Given the description of an element on the screen output the (x, y) to click on. 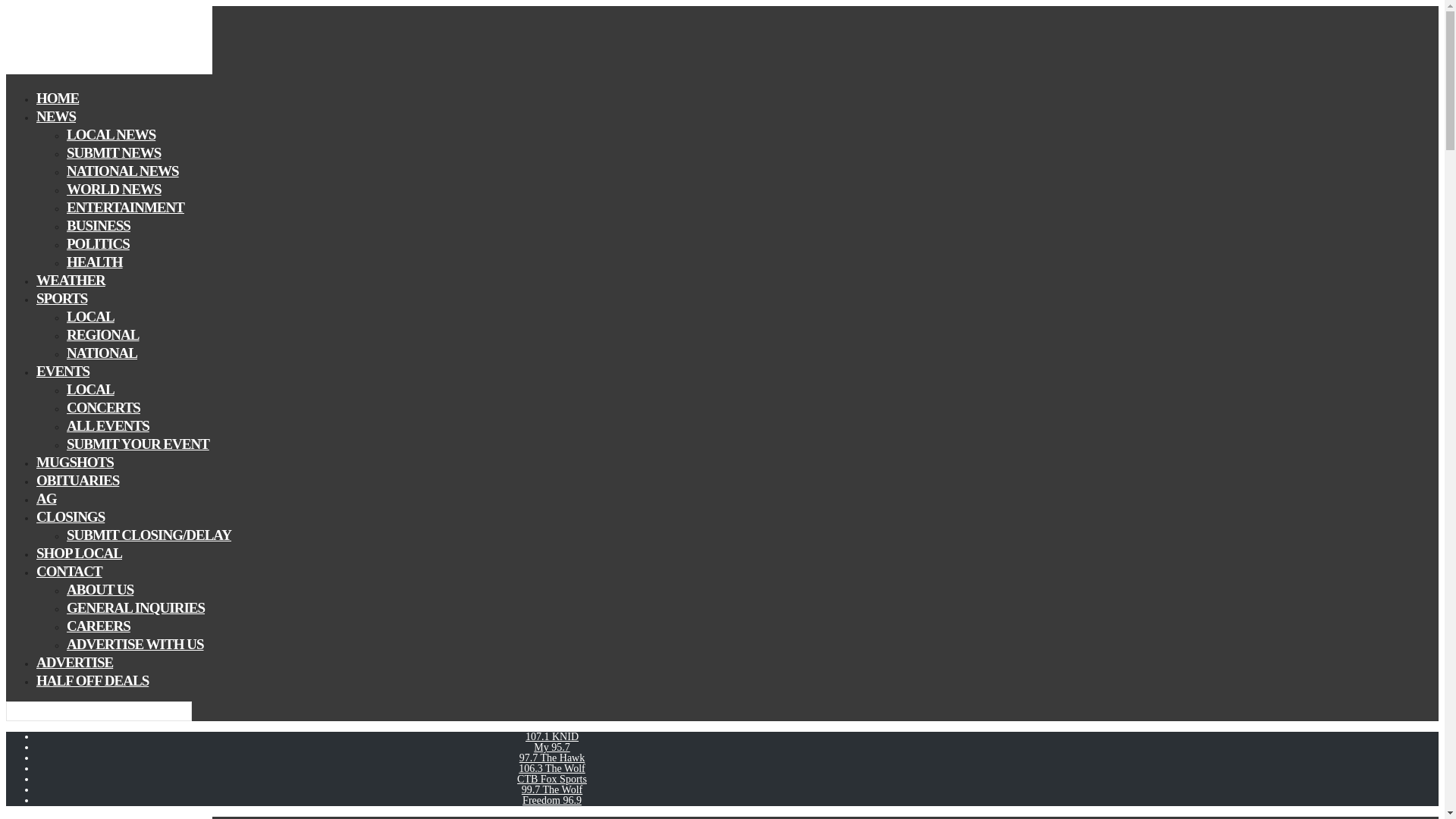
ALL EVENTS (107, 425)
SUBMIT NEWS (113, 152)
SHOP LOCAL (79, 553)
HALF OFF DEALS (92, 680)
SPORTS (61, 298)
ENTERTAINMENT (125, 207)
CONCERTS (102, 407)
NEWS (55, 116)
SUBMIT YOUR EVENT (137, 444)
My 95.7 (551, 747)
EVENTS (62, 371)
BUSINESS (98, 225)
NATIONAL (101, 352)
CONTACT (68, 571)
107.1 KNID (551, 736)
